Given the description of an element on the screen output the (x, y) to click on. 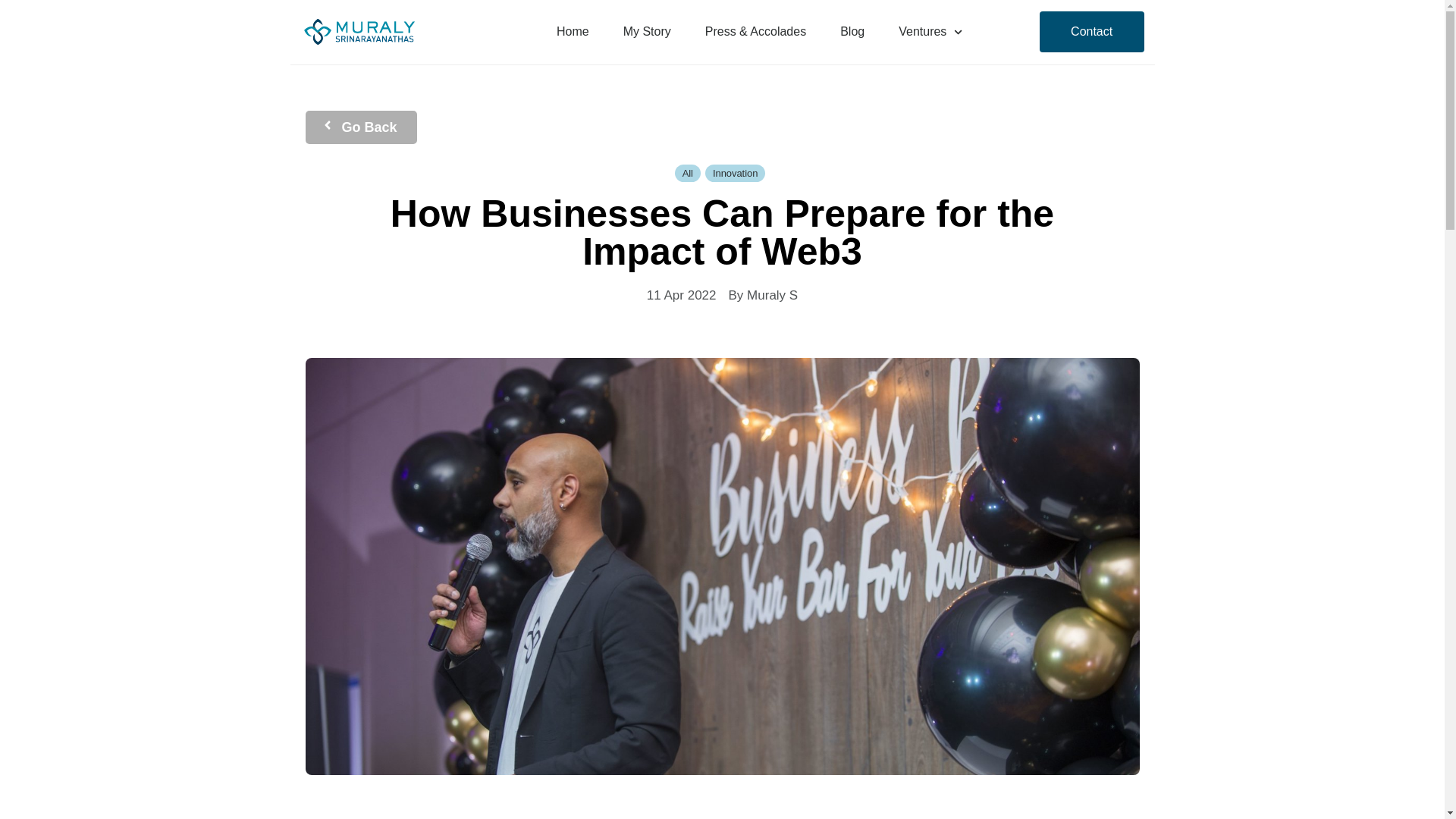
Blog (852, 31)
Contact (1091, 31)
My Story (646, 31)
Home (572, 31)
Go Back (360, 127)
Ventures (929, 31)
